Given the description of an element on the screen output the (x, y) to click on. 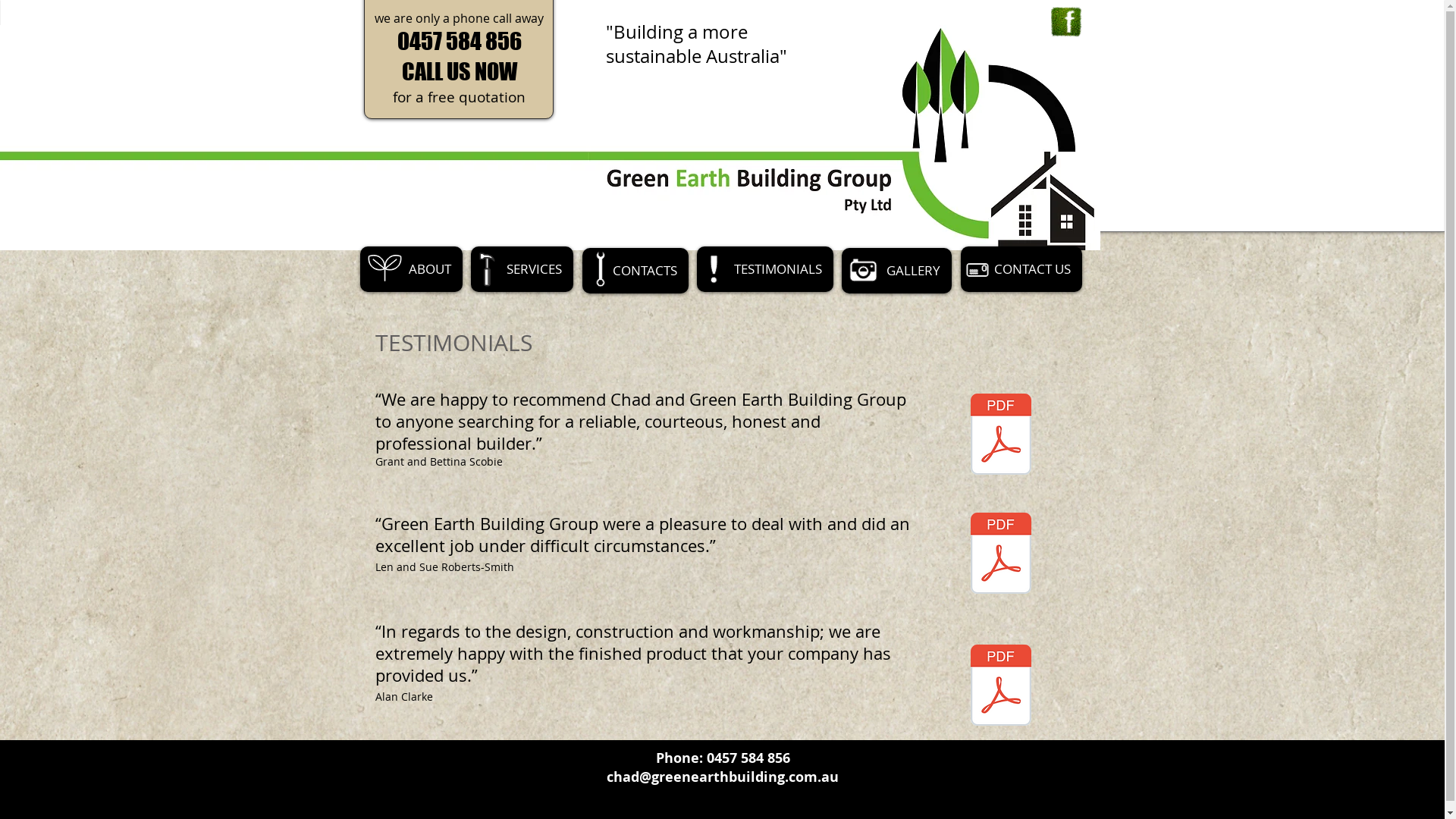
Testimonial, Grant and Bettina Scobie.pdf Element type: hover (1000, 435)
TESTIMONIALS Element type: text (764, 268)
chad@greenearthbuilding.com.au Element type: text (722, 776)
CONTACTS Element type: text (635, 270)
Testimonial, Alan Clarke.pdf Element type: hover (1000, 686)
ABOUT Element type: text (410, 268)
CONTACT US Element type: text (1020, 268)
SERVICES Element type: text (521, 268)
Testimonial, Sue and Len Roberts-Smith.pdf Element type: hover (1000, 555)
GALLERY Element type: text (896, 270)
